Given the description of an element on the screen output the (x, y) to click on. 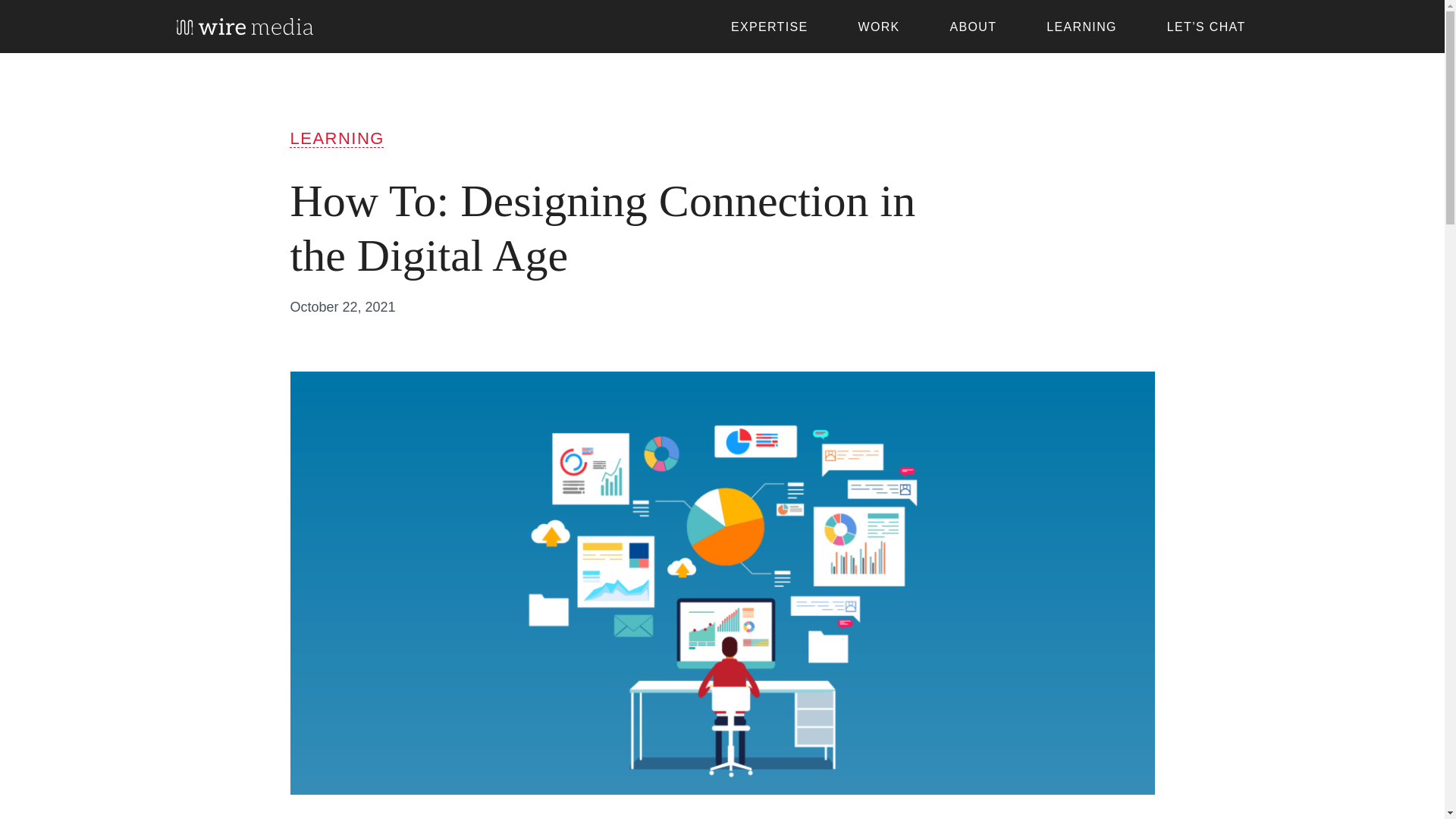
ABOUT (972, 26)
LEARNING (336, 138)
LEARNING (1080, 26)
EXPERTISE (769, 26)
